Given the description of an element on the screen output the (x, y) to click on. 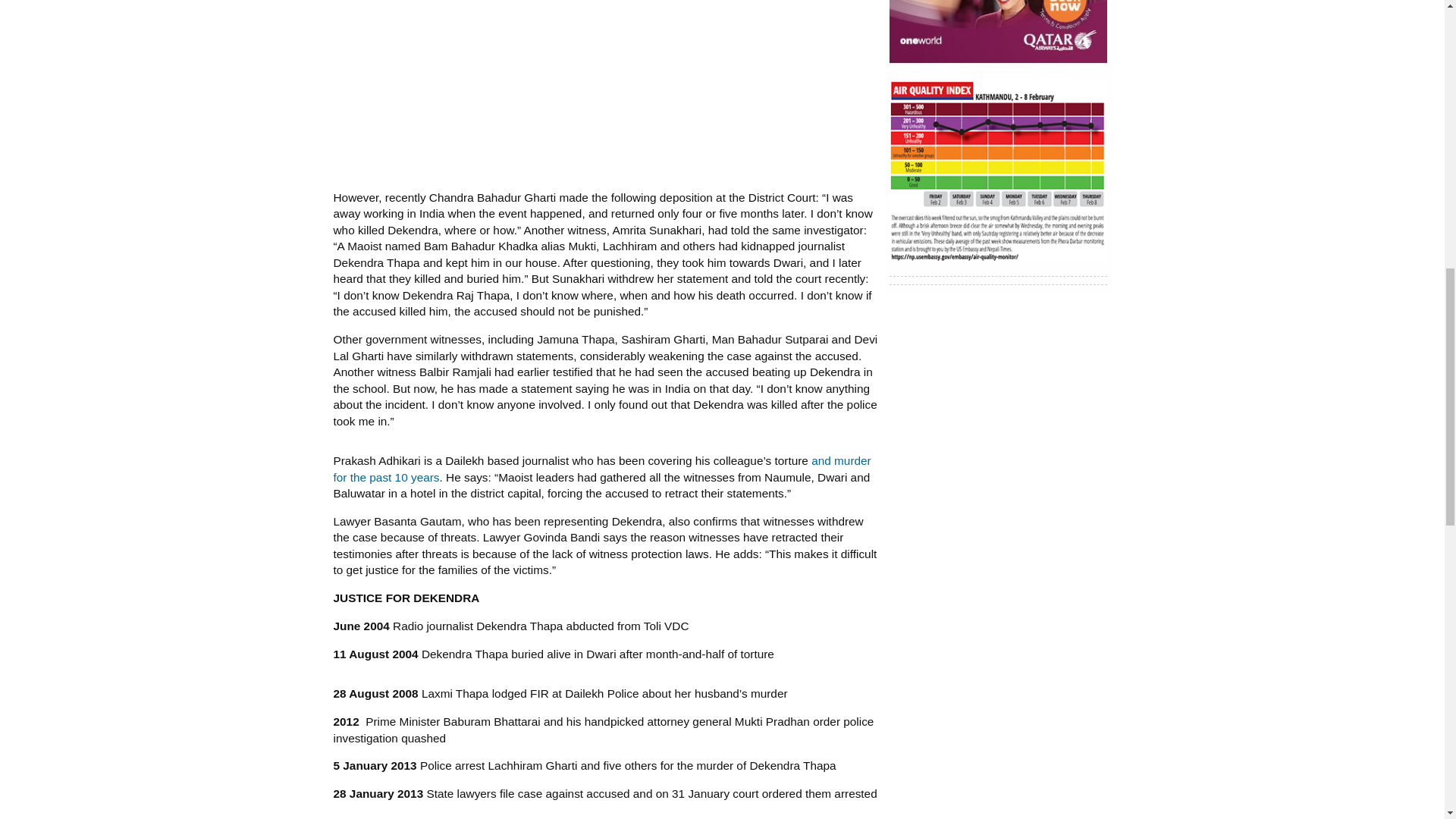
Advertisement (605, 89)
